Given the description of an element on the screen output the (x, y) to click on. 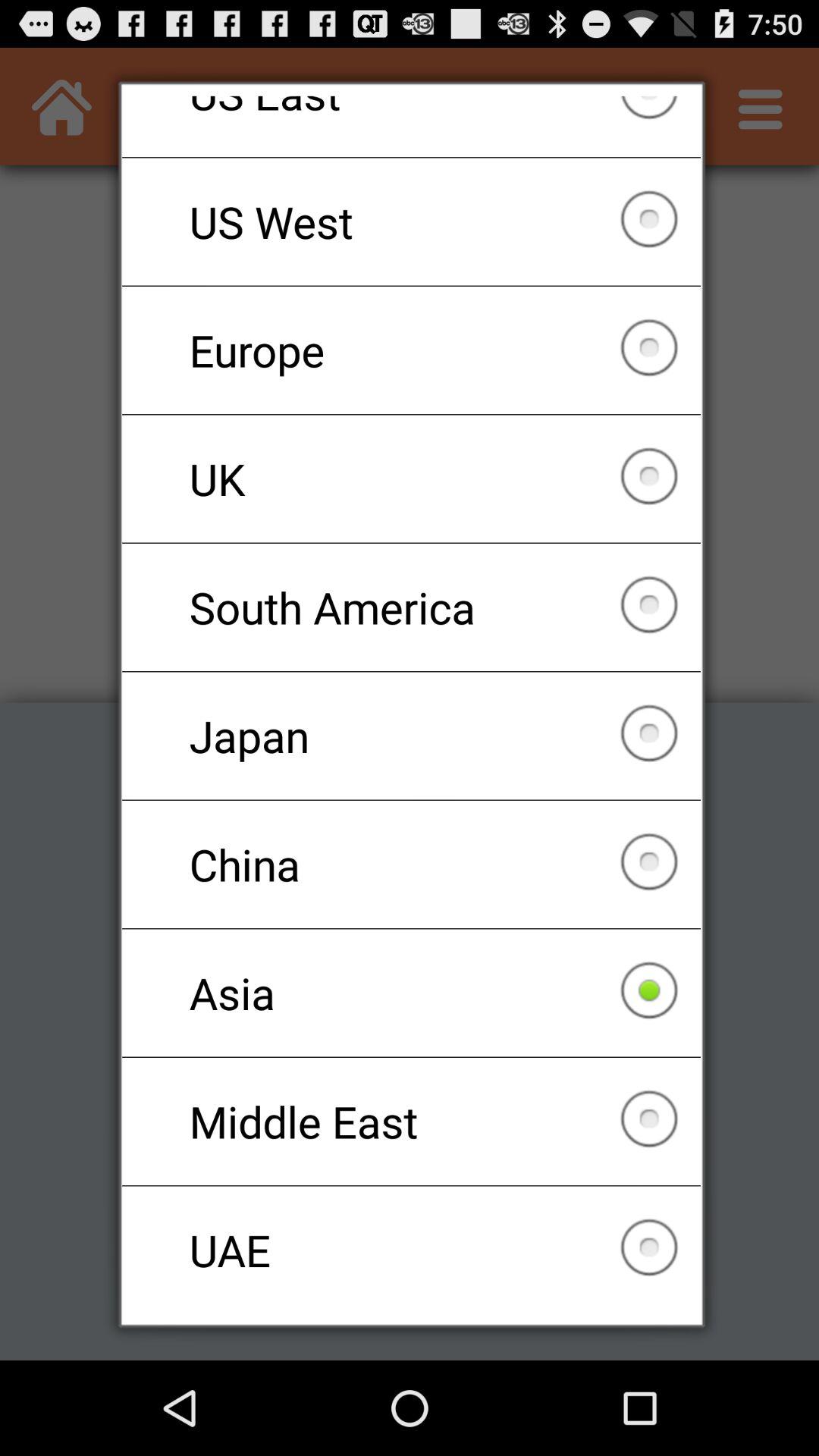
choose the item above the     uk item (411, 350)
